Given the description of an element on the screen output the (x, y) to click on. 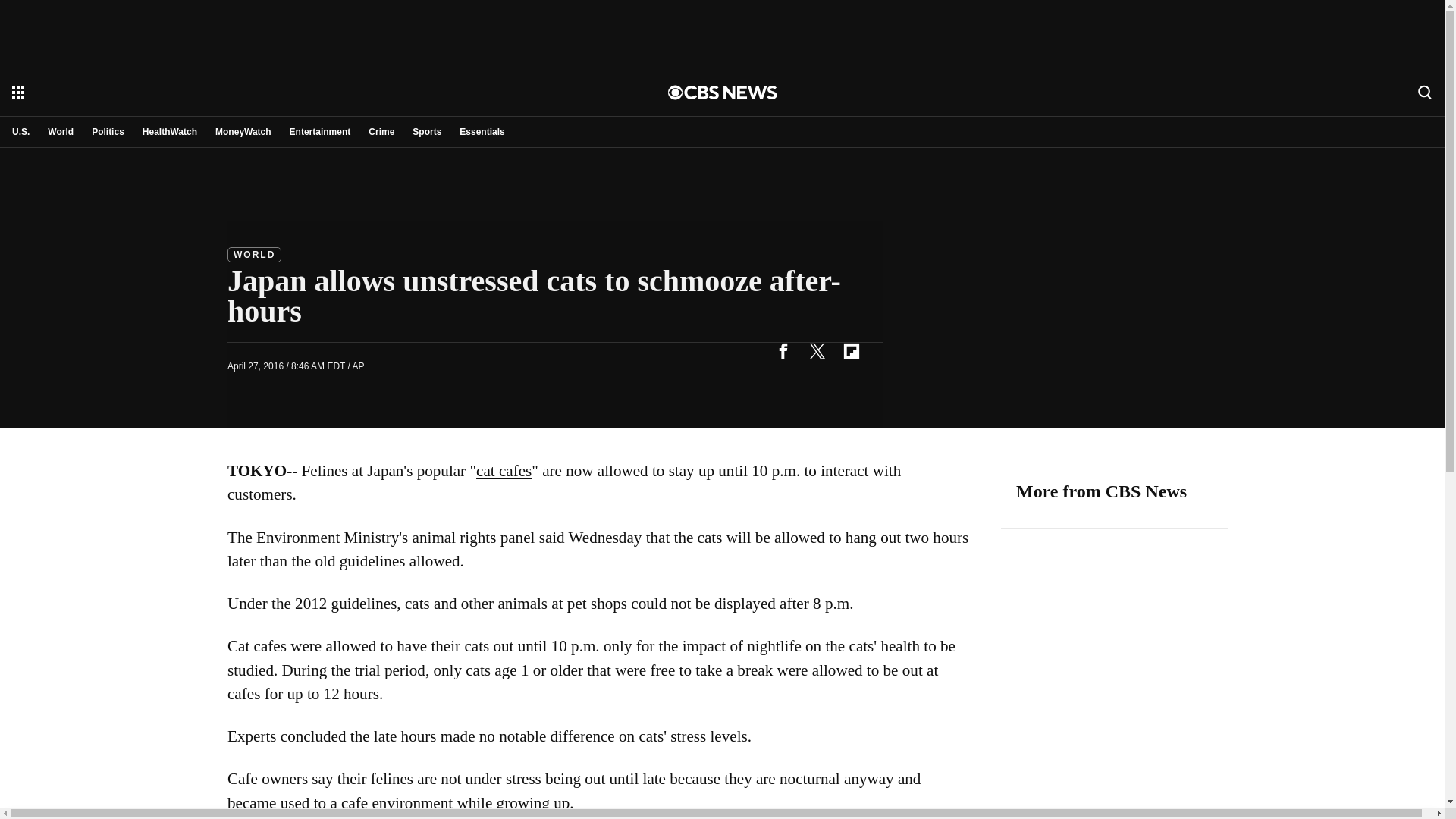
twitter (816, 350)
flipboard (850, 350)
facebook (782, 350)
